Given the description of an element on the screen output the (x, y) to click on. 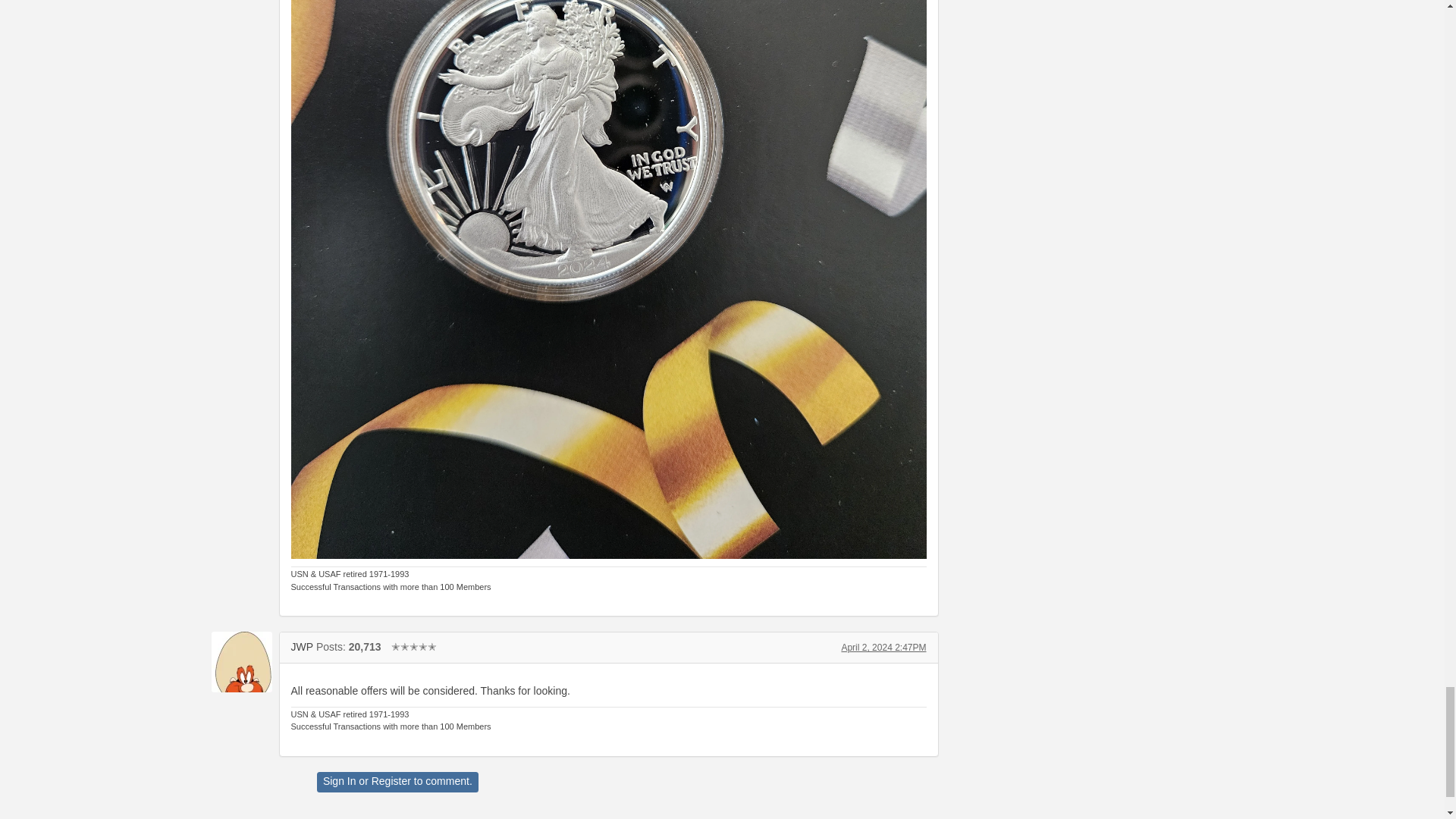
April 2, 2024 2:47PM (883, 647)
Register (390, 780)
JWP (302, 646)
Sign In (339, 780)
